Given the description of an element on the screen output the (x, y) to click on. 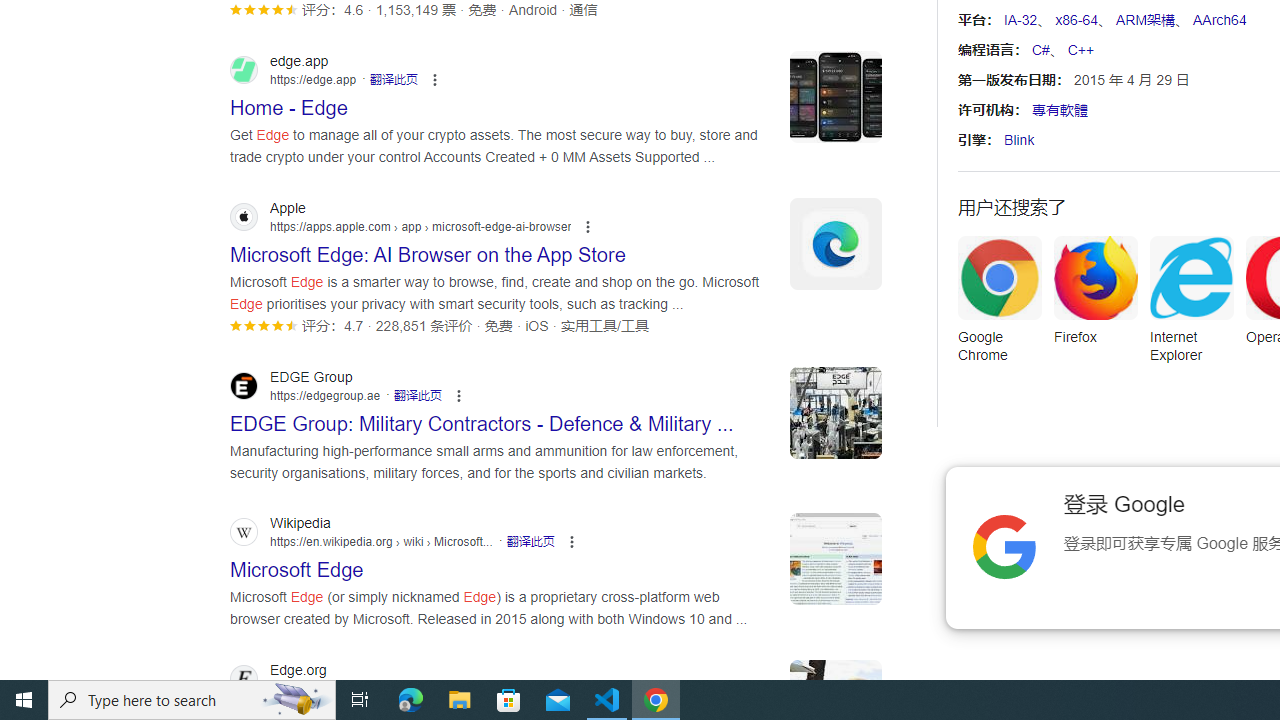
Google Chrome (999, 305)
Firefox (1095, 296)
 Home - Edge edge.app https://edge.app (289, 102)
x86-64 (1076, 20)
C# (1039, 49)
Blink (1019, 139)
